Given the description of an element on the screen output the (x, y) to click on. 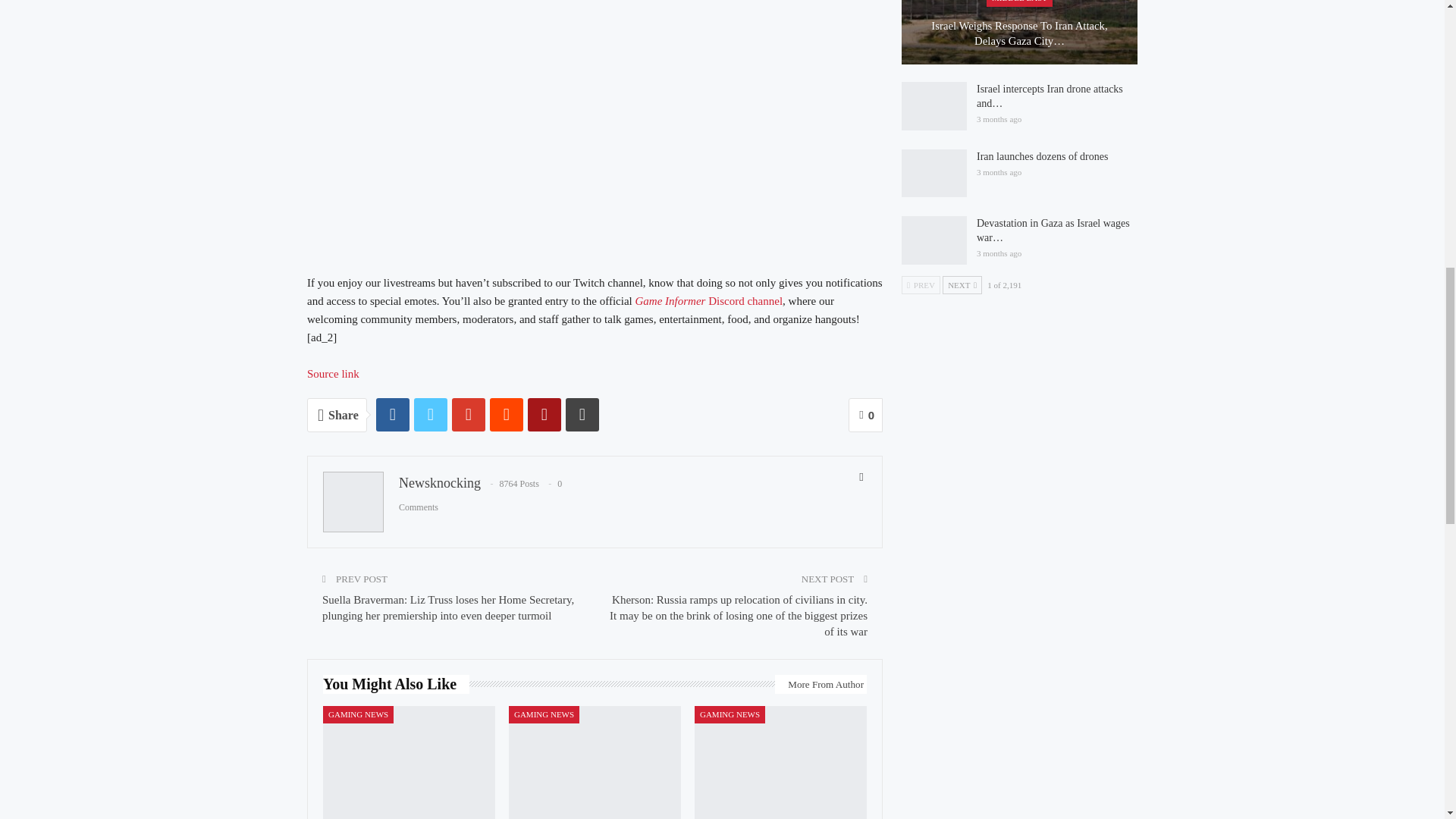
Source link (333, 373)
Sonic Superstars Getting Lego DLC Skins (409, 762)
0 (865, 415)
Game Informer Discord channel (708, 300)
